Given the description of an element on the screen output the (x, y) to click on. 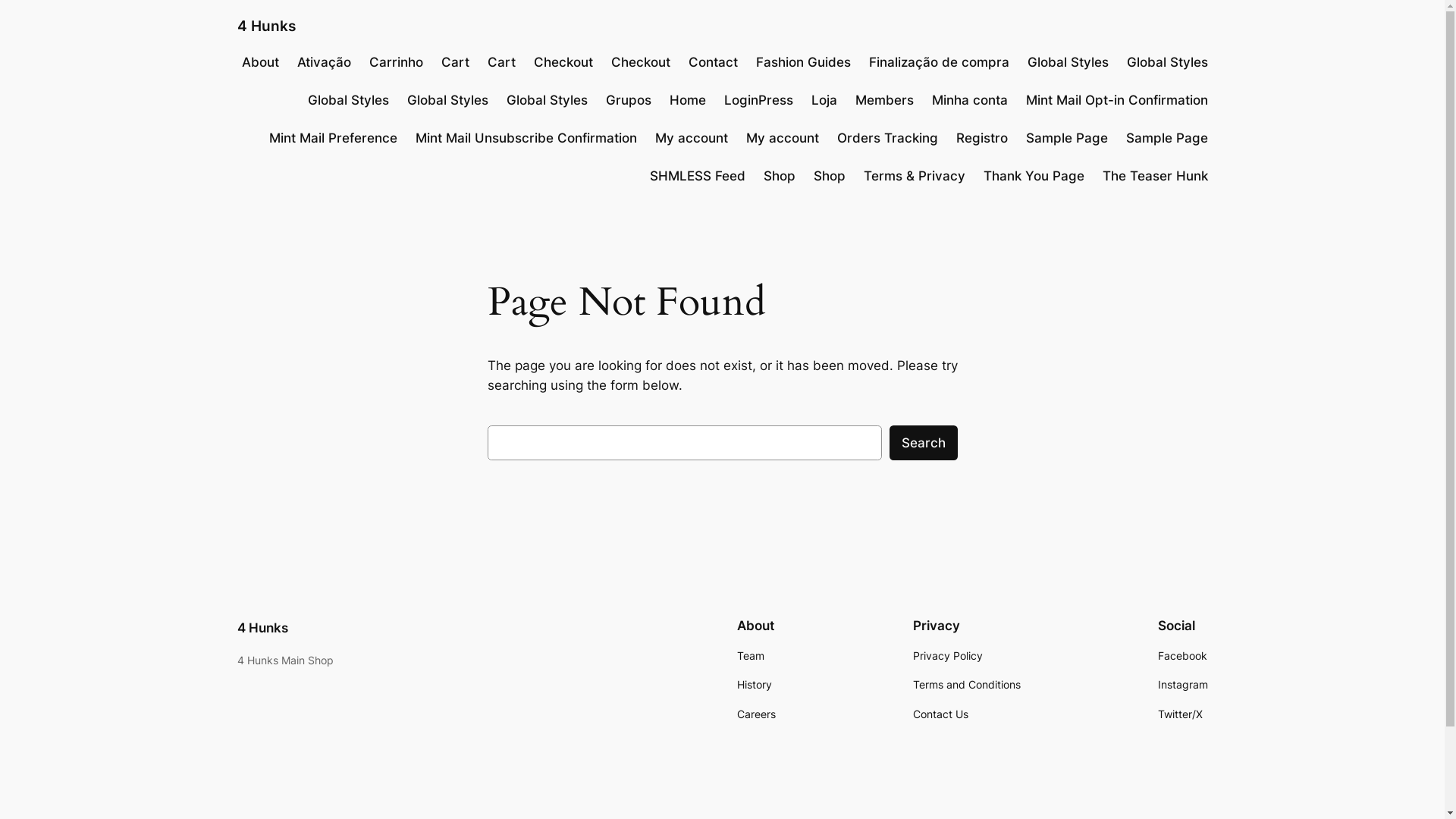
Carrinho Element type: text (395, 62)
Members Element type: text (884, 99)
Contact Us Element type: text (940, 713)
The Teaser Hunk Element type: text (1155, 175)
Global Styles Element type: text (1066, 62)
Loja Element type: text (824, 99)
Checkout Element type: text (563, 62)
Grupos Element type: text (627, 99)
Shop Element type: text (828, 175)
Minha conta Element type: text (969, 99)
Sample Page Element type: text (1166, 137)
Careers Element type: text (756, 713)
4 Hunks Element type: text (265, 25)
Cart Element type: text (455, 62)
Terms and Conditions Element type: text (966, 684)
Global Styles Element type: text (546, 99)
About Element type: text (259, 62)
Mint Mail Preference Element type: text (332, 137)
Contact Element type: text (712, 62)
Orders Tracking Element type: text (887, 137)
Mint Mail Opt-in Confirmation Element type: text (1116, 99)
Registro Element type: text (981, 137)
My account Element type: text (691, 137)
Sample Page Element type: text (1066, 137)
Global Styles Element type: text (348, 99)
My account Element type: text (782, 137)
Twitter/X Element type: text (1179, 713)
SHMLESS Feed Element type: text (696, 175)
Thank You Page Element type: text (1032, 175)
Checkout Element type: text (640, 62)
Global Styles Element type: text (446, 99)
History Element type: text (754, 684)
Terms & Privacy Element type: text (913, 175)
Instagram Element type: text (1182, 684)
Team Element type: text (750, 655)
Privacy Policy Element type: text (947, 655)
Home Element type: text (686, 99)
Shop Element type: text (778, 175)
Cart Element type: text (500, 62)
Facebook Element type: text (1181, 655)
Fashion Guides Element type: text (802, 62)
4 Hunks Element type: text (261, 627)
Mint Mail Unsubscribe Confirmation Element type: text (526, 137)
Search Element type: text (922, 442)
Global Styles Element type: text (1167, 62)
LoginPress Element type: text (757, 99)
